Given the description of an element on the screen output the (x, y) to click on. 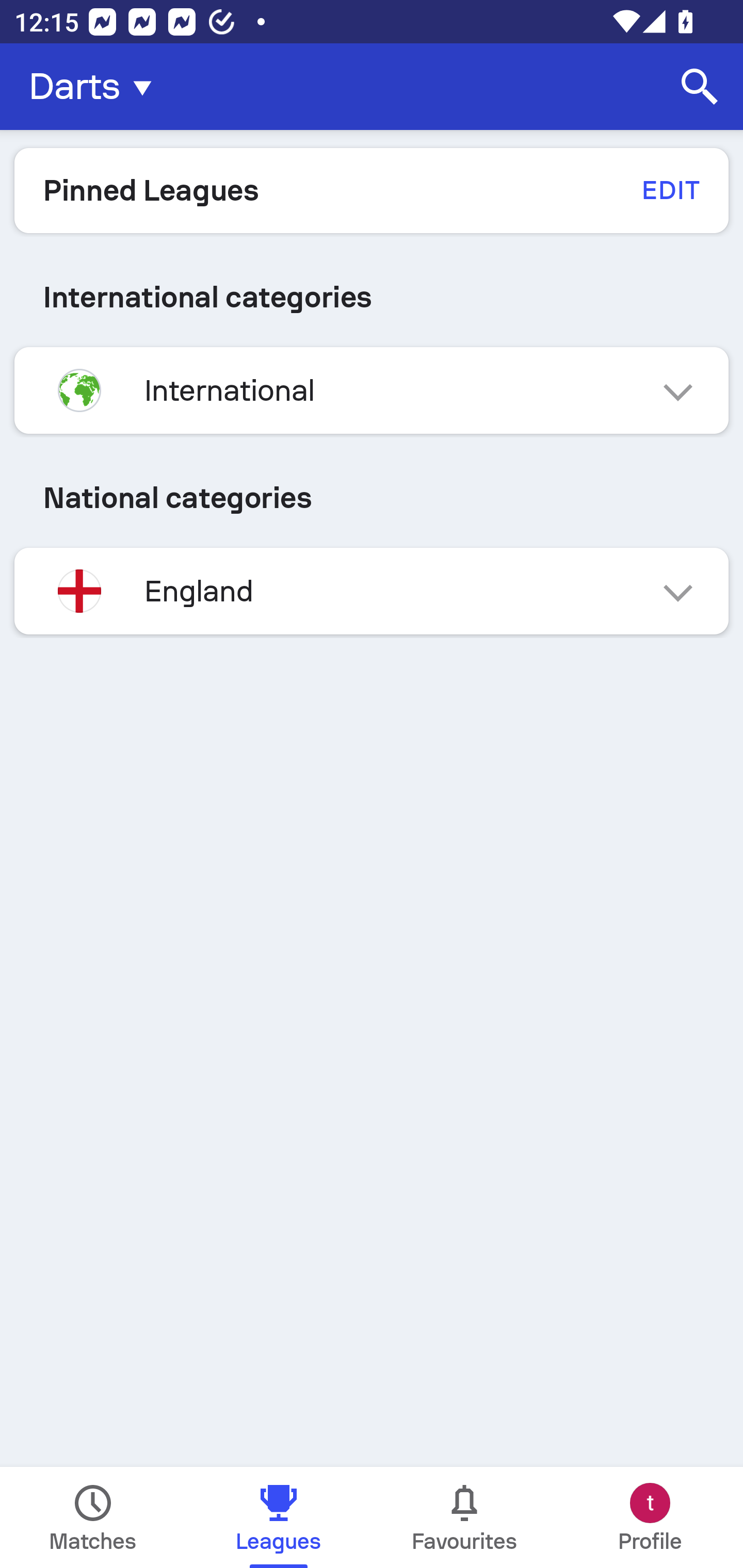
Darts (96, 86)
Search (699, 86)
Pinned Leagues EDIT (371, 190)
EDIT (670, 190)
International categories (371, 296)
International (371, 390)
National categories (371, 497)
England (371, 591)
Matches (92, 1517)
Favourites (464, 1517)
Profile (650, 1517)
